Given the description of an element on the screen output the (x, y) to click on. 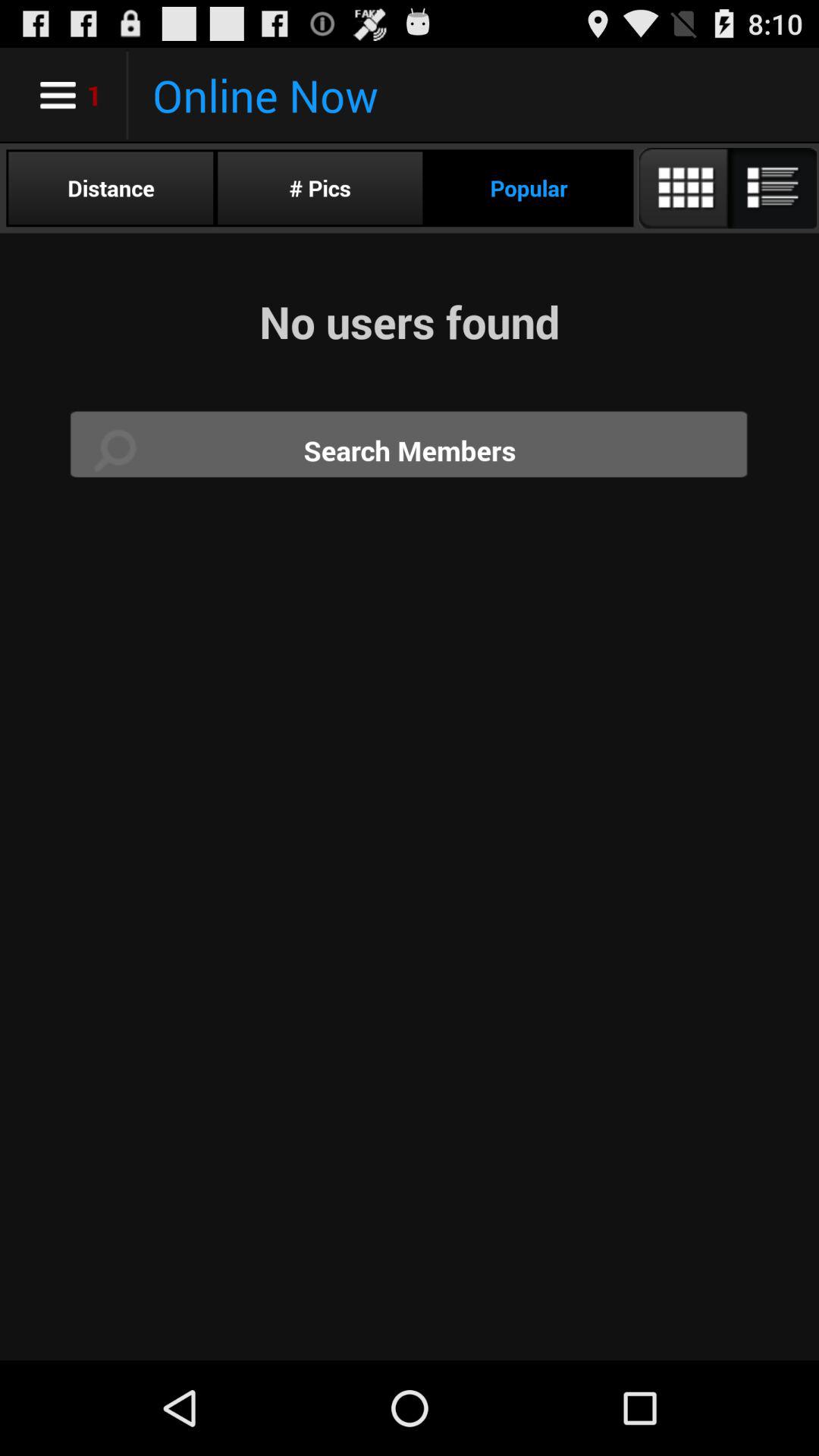
click the item to the right of # pics (528, 187)
